Given the description of an element on the screen output the (x, y) to click on. 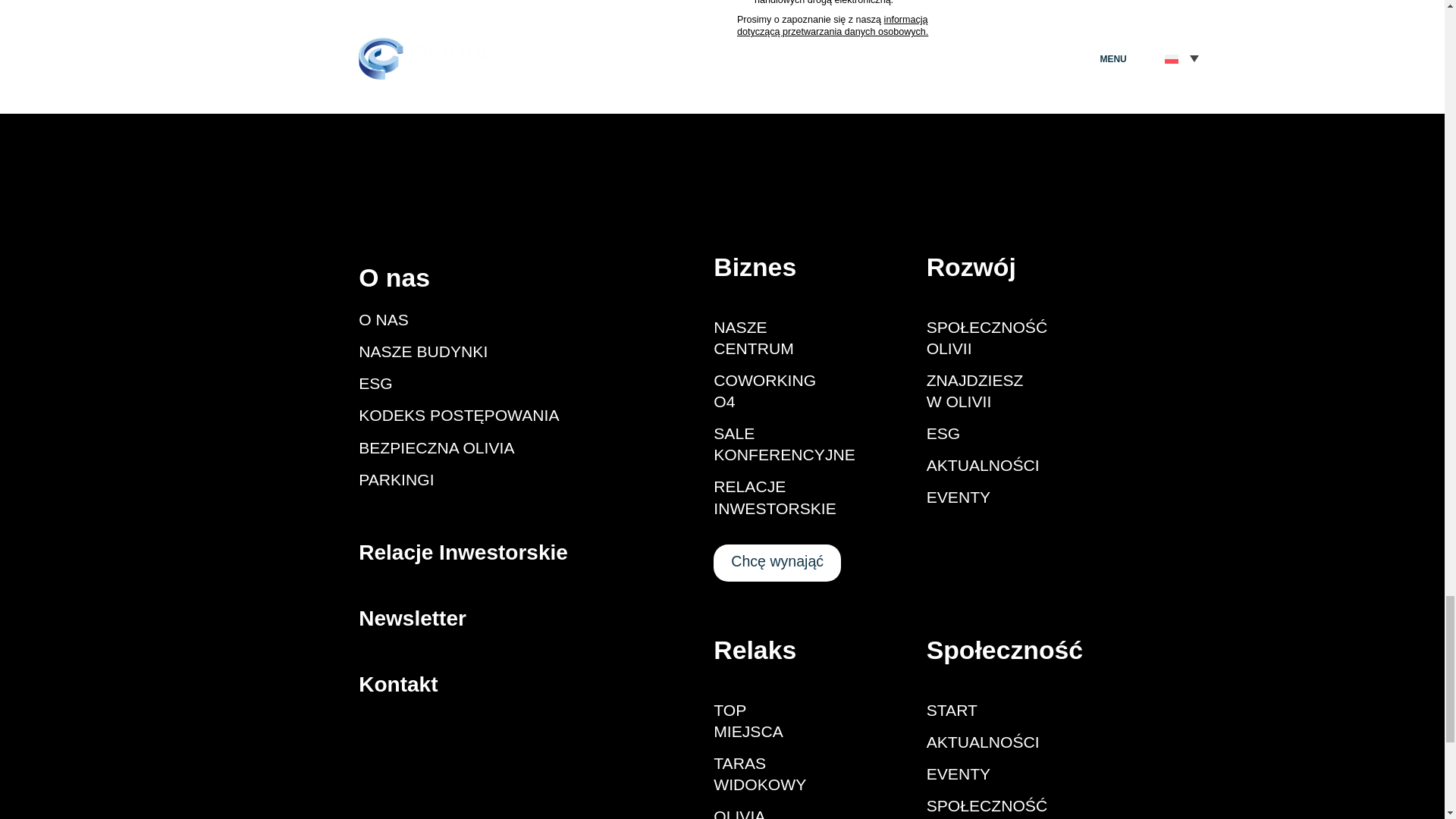
1 (741, 3)
